Given the description of an element on the screen output the (x, y) to click on. 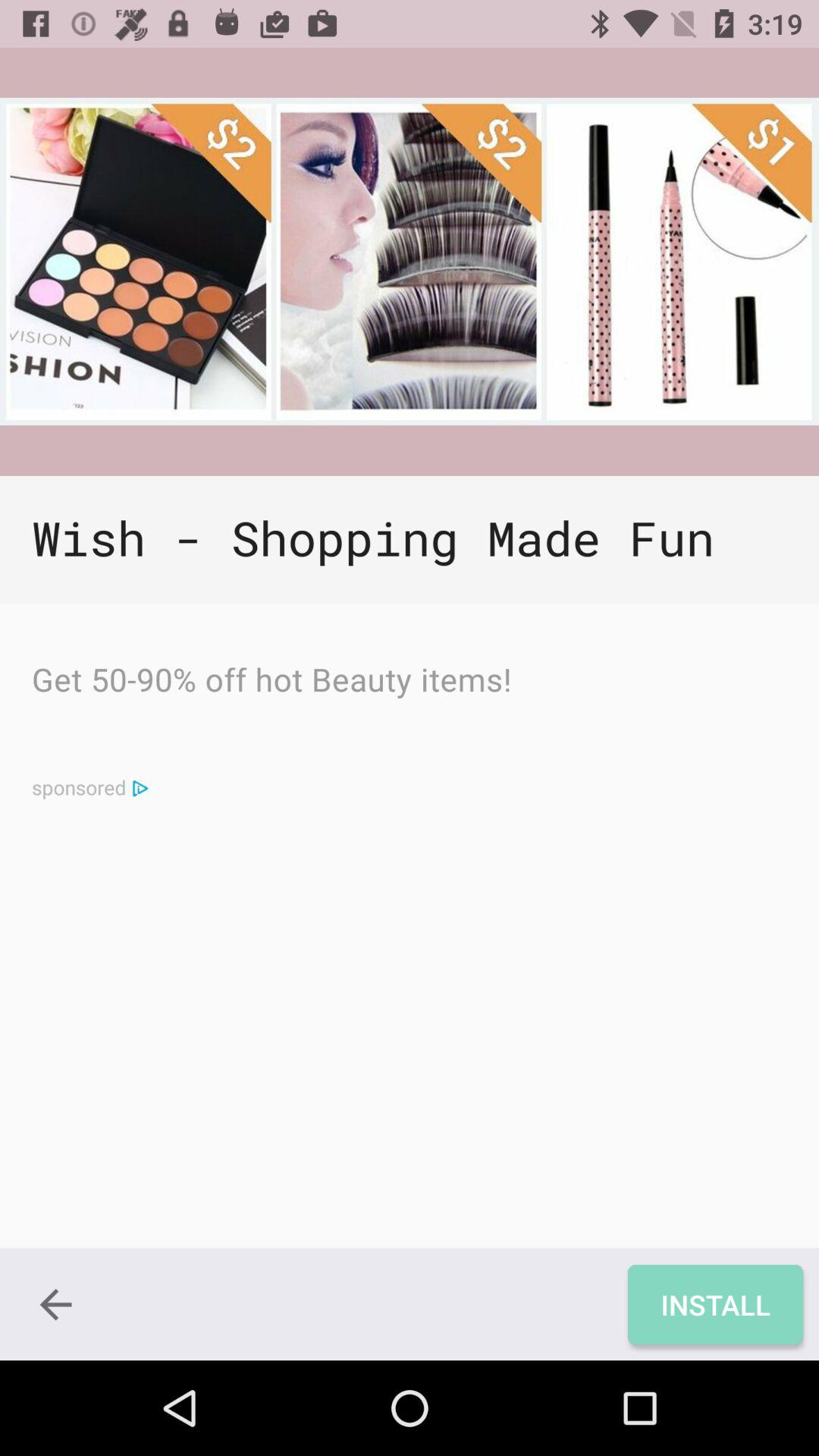
press icon to the left of install (55, 1304)
